Given the description of an element on the screen output the (x, y) to click on. 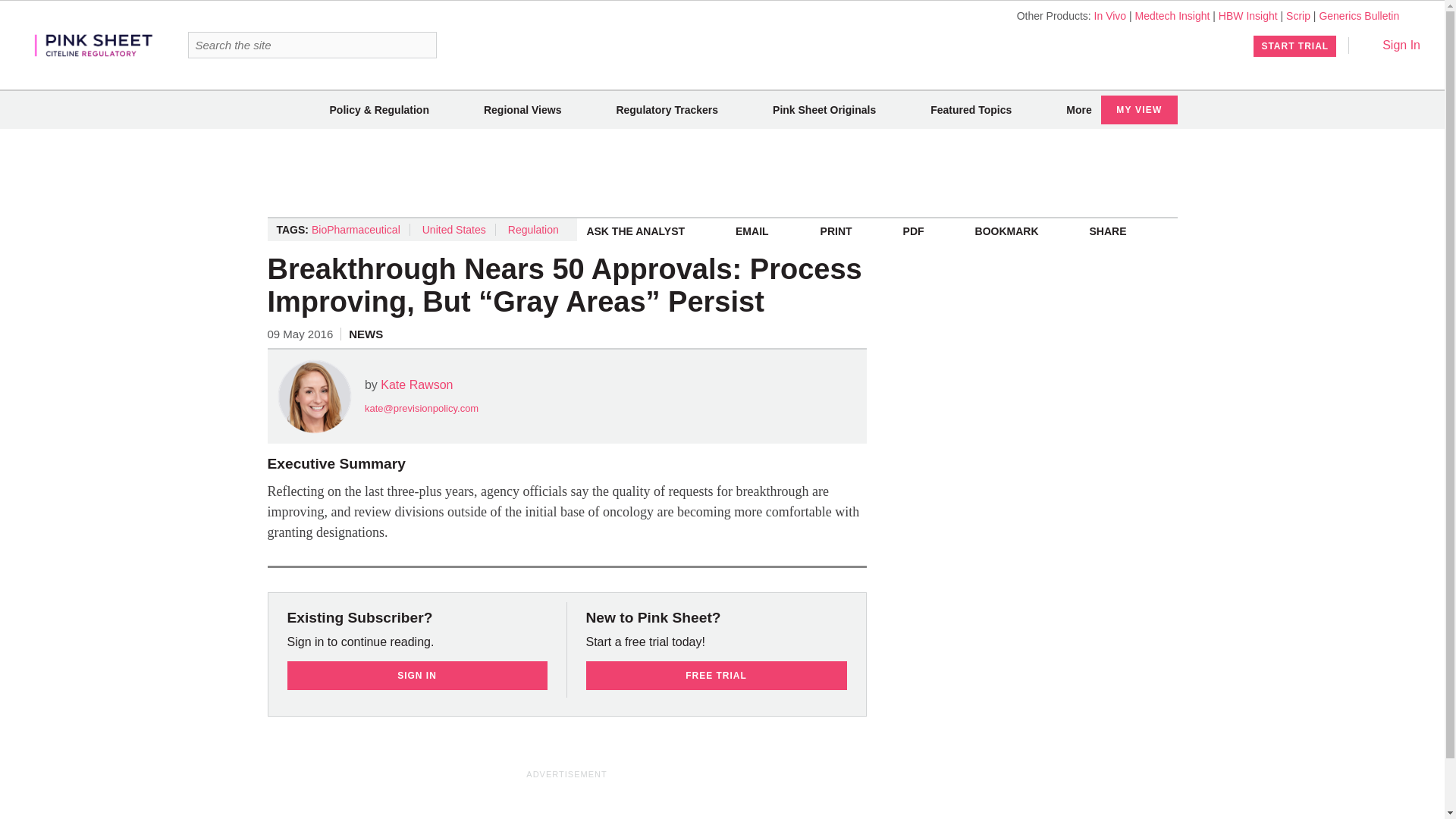
Sign In (1391, 44)
In Vivo (1110, 15)
3rd party ad content (721, 172)
START TRIAL (1294, 46)
Scrip (1297, 15)
3rd party ad content (567, 800)
Medtech Insight (1172, 15)
Generics Bulletin (1359, 15)
HBW Insight (1248, 15)
